Given the description of an element on the screen output the (x, y) to click on. 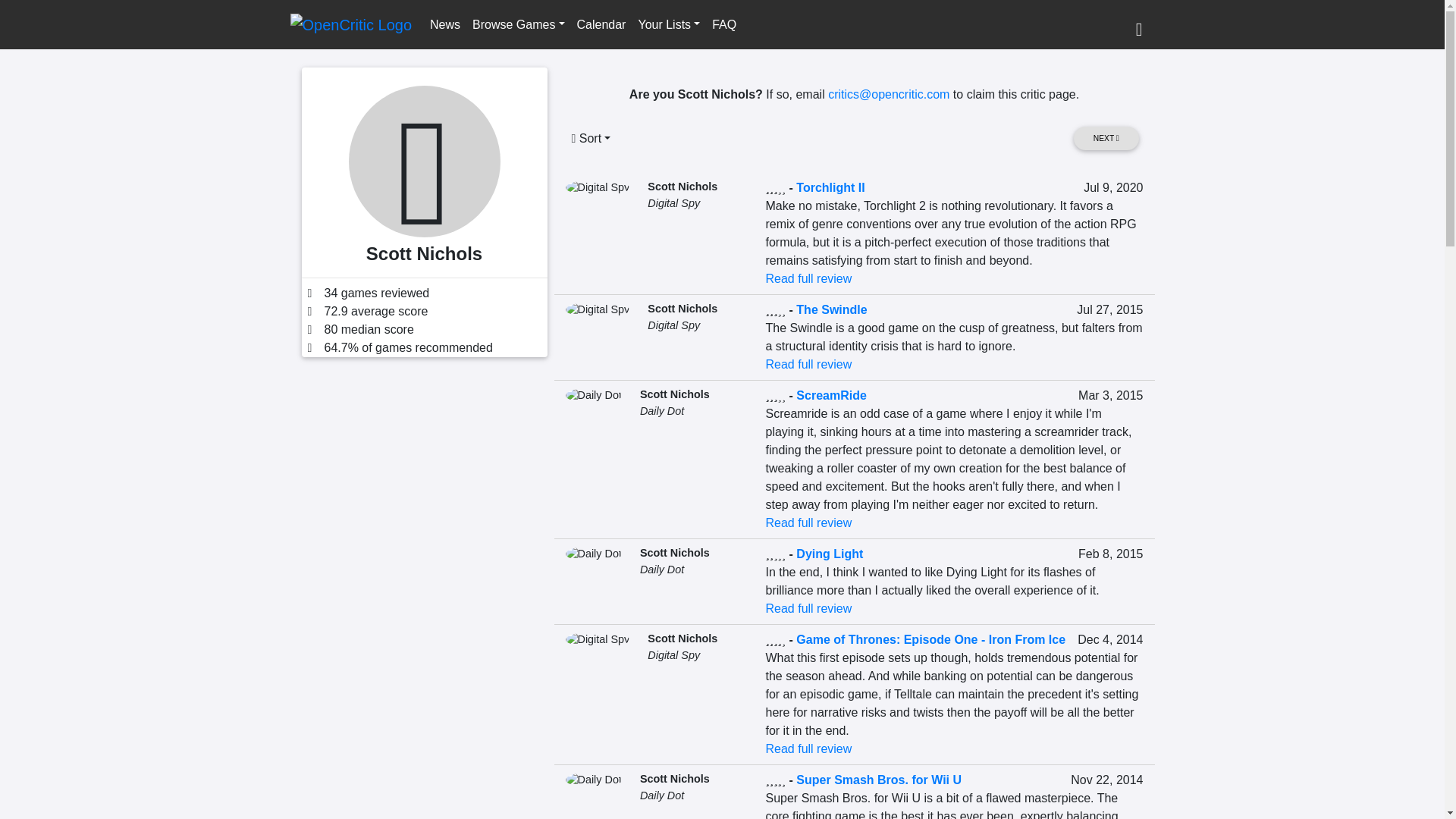
NEXT (1106, 137)
Digital Spy (673, 203)
Scott Nichols (682, 186)
FAQ (724, 24)
Browse Games (517, 24)
Your Lists (668, 24)
Daily Dot (662, 410)
Digital Spy (673, 325)
Scott Nichols (675, 394)
Calendar (600, 24)
